Given the description of an element on the screen output the (x, y) to click on. 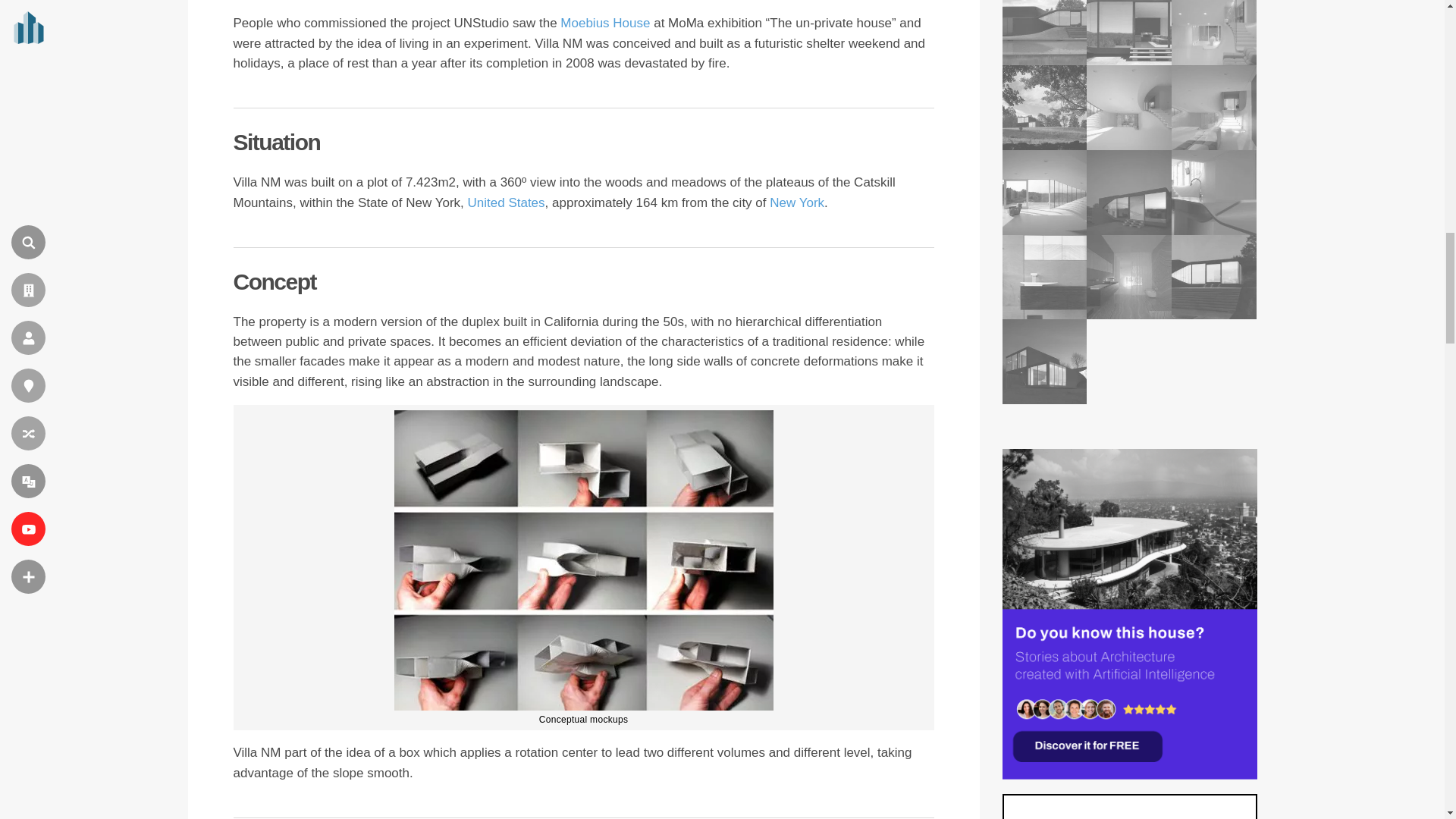
Moebius House (604, 22)
New York (797, 202)
United States (505, 202)
